Given the description of an element on the screen output the (x, y) to click on. 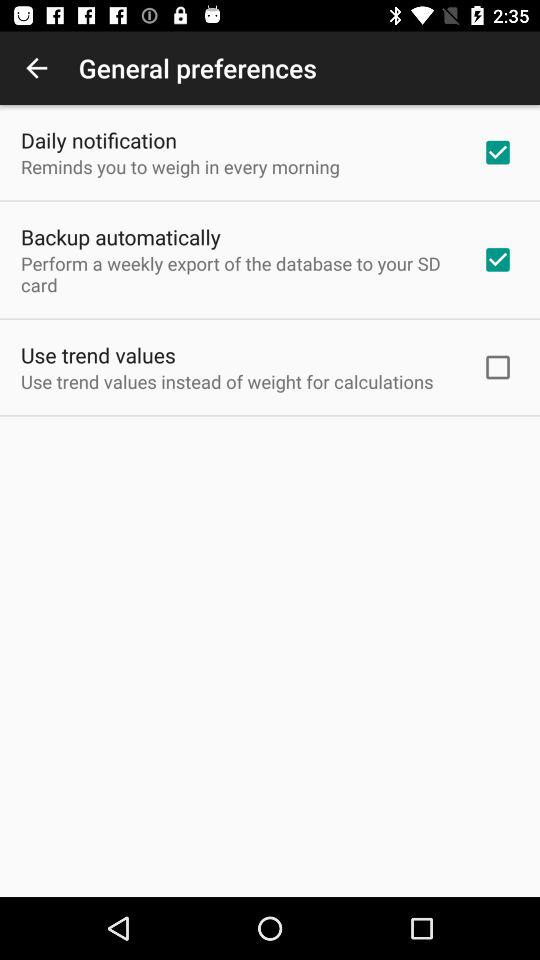
turn on the icon below backup automatically icon (238, 274)
